Given the description of an element on the screen output the (x, y) to click on. 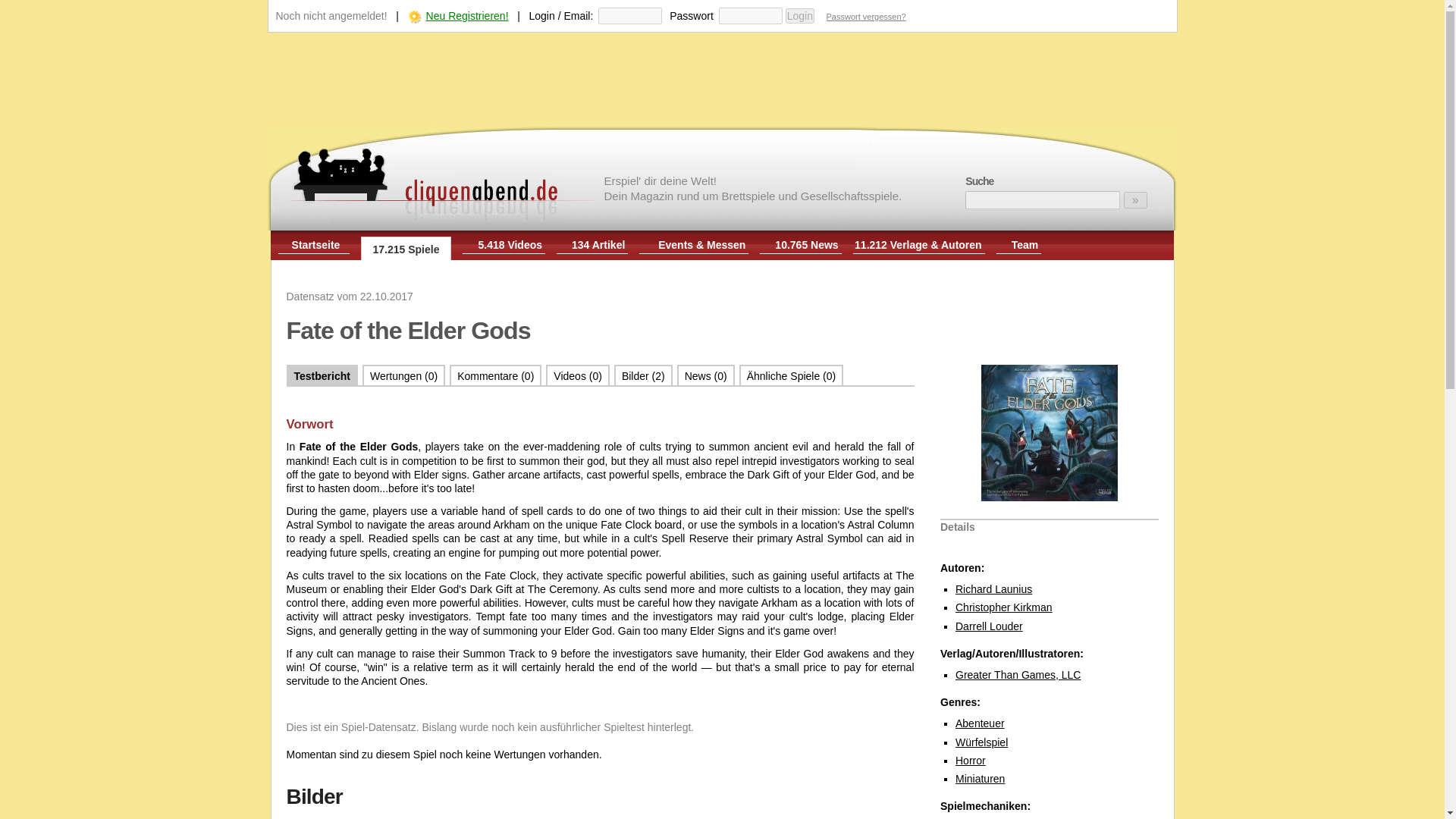
Passwort vergessen? (866, 16)
Login (799, 15)
17.215 Spiele (405, 249)
5.418 Videos (509, 244)
Login (799, 15)
Miniaturen (979, 778)
Startseite (316, 244)
Christopher Kirkman (1003, 607)
Neu Registrieren! (467, 15)
Greater Than Games, LLC (1017, 674)
